Given the description of an element on the screen output the (x, y) to click on. 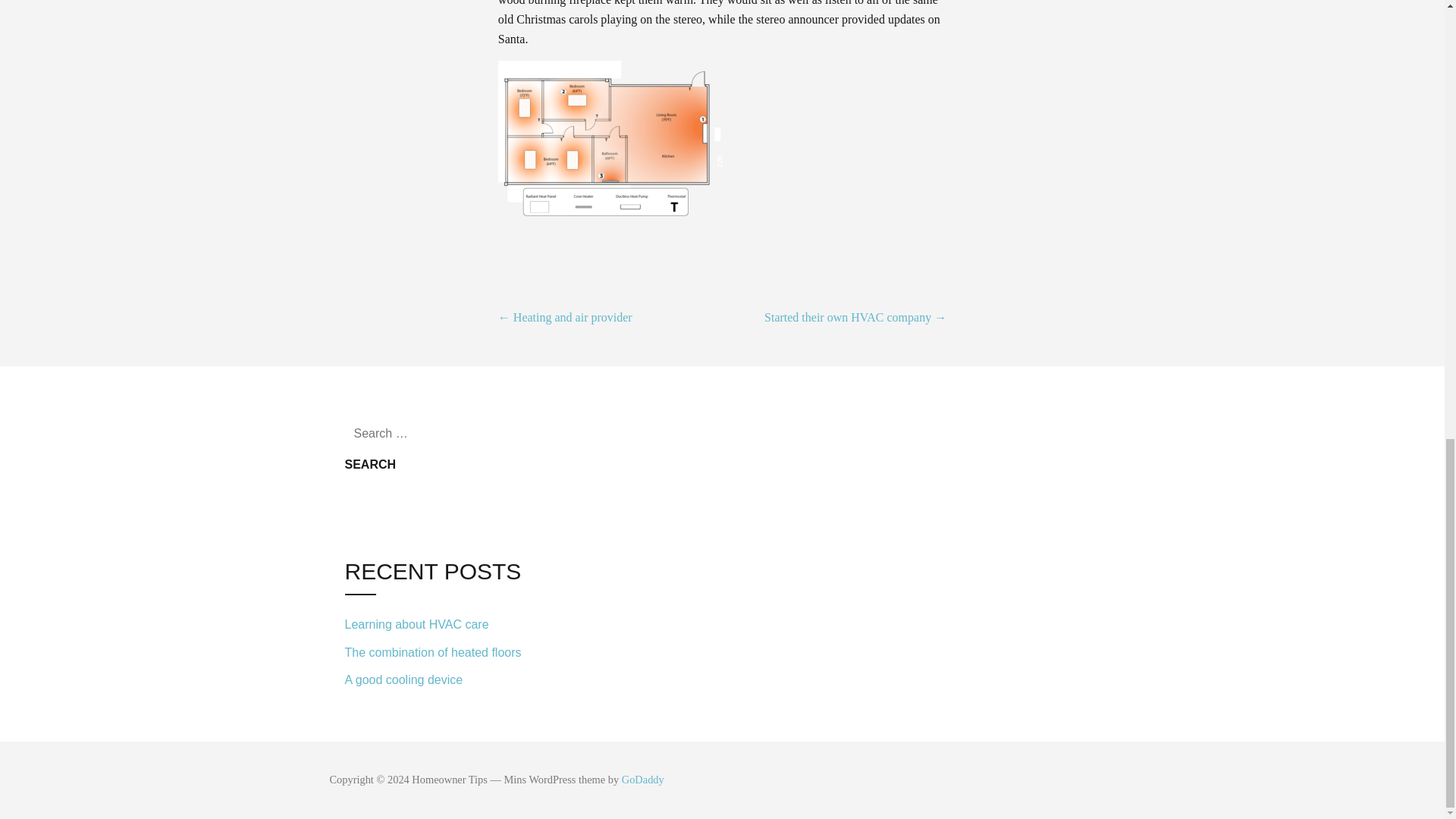
Search (369, 464)
Learning about HVAC care (447, 624)
A good cooling device (447, 678)
Search (369, 464)
Search (369, 464)
The combination of heated floors (447, 652)
GoDaddy (642, 779)
